Given the description of an element on the screen output the (x, y) to click on. 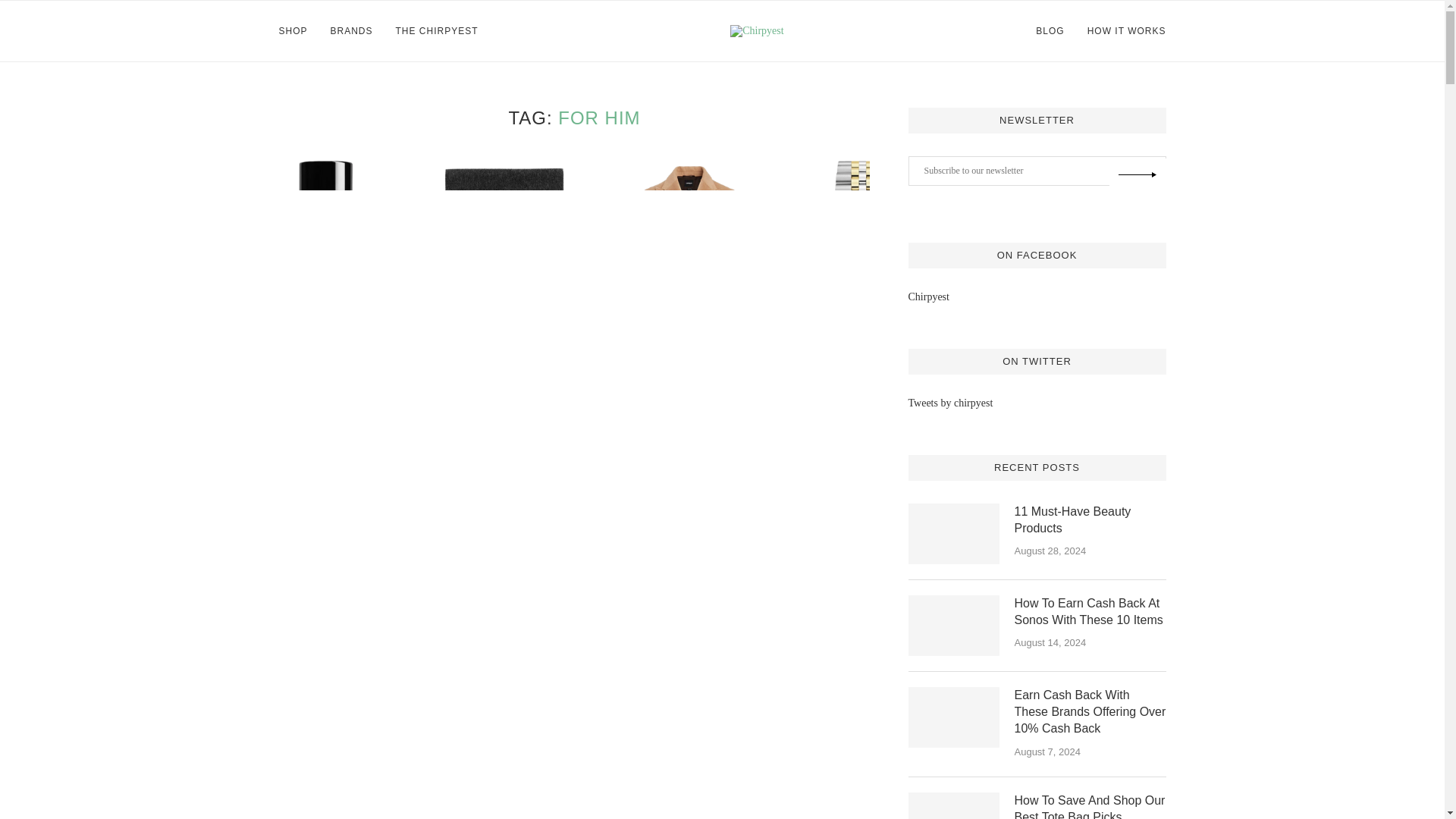
11 Must-Have Beauty Products (953, 533)
How To Save And Shop Our Best Tote Bag Picks (1090, 805)
How To Save And Shop Our Best Tote Bag Picks (953, 805)
How To Earn Cash Back At Sonos With These 10 Items (1090, 612)
How To Earn Cash Back At Sonos With These 10 Items (953, 625)
11 Must-Have Beauty Products (1090, 520)
HOW IT WORKS (1126, 30)
THE CHIRPYEST (437, 30)
